Given the description of an element on the screen output the (x, y) to click on. 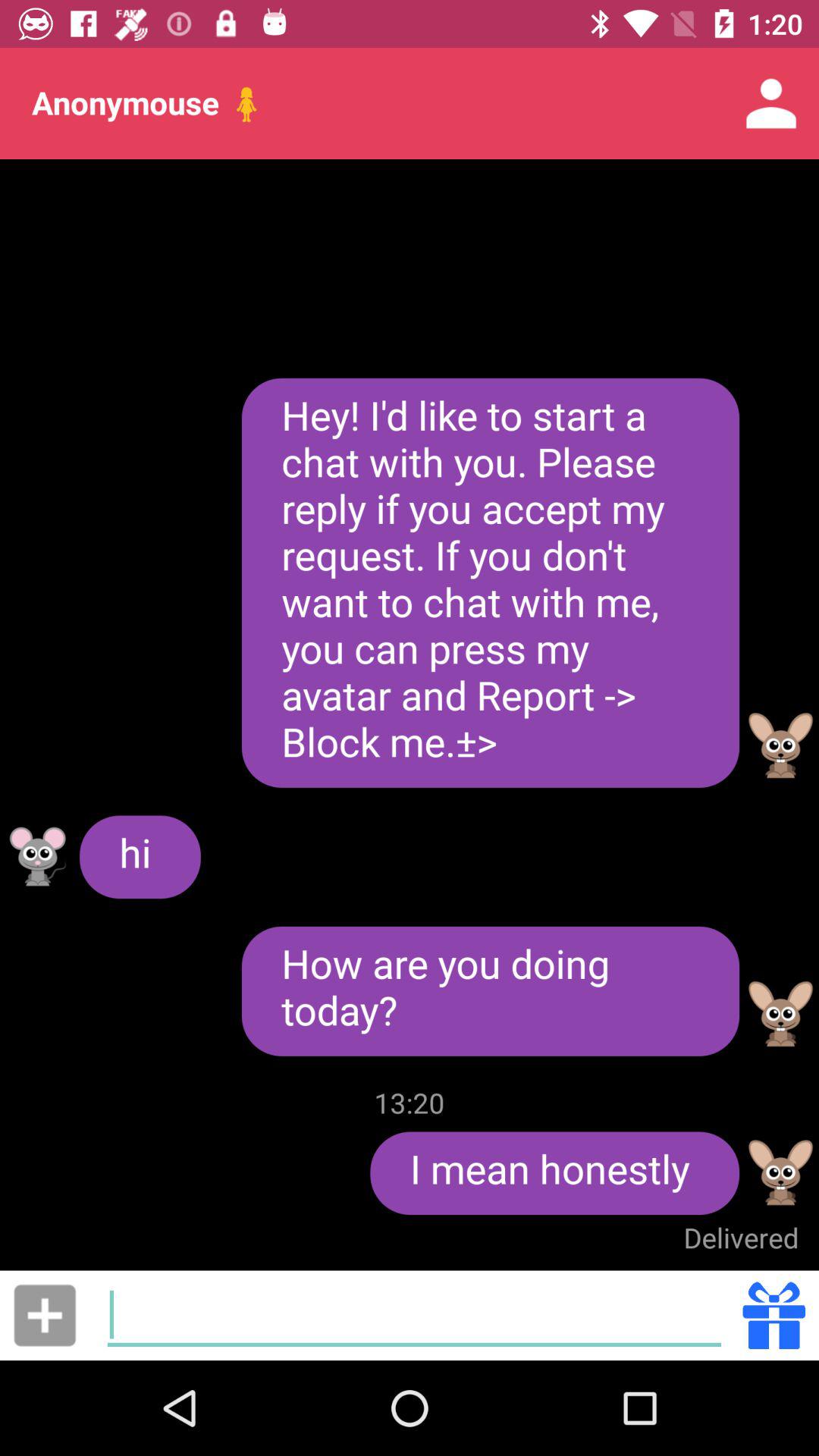
launch the hi  item (139, 856)
